Given the description of an element on the screen output the (x, y) to click on. 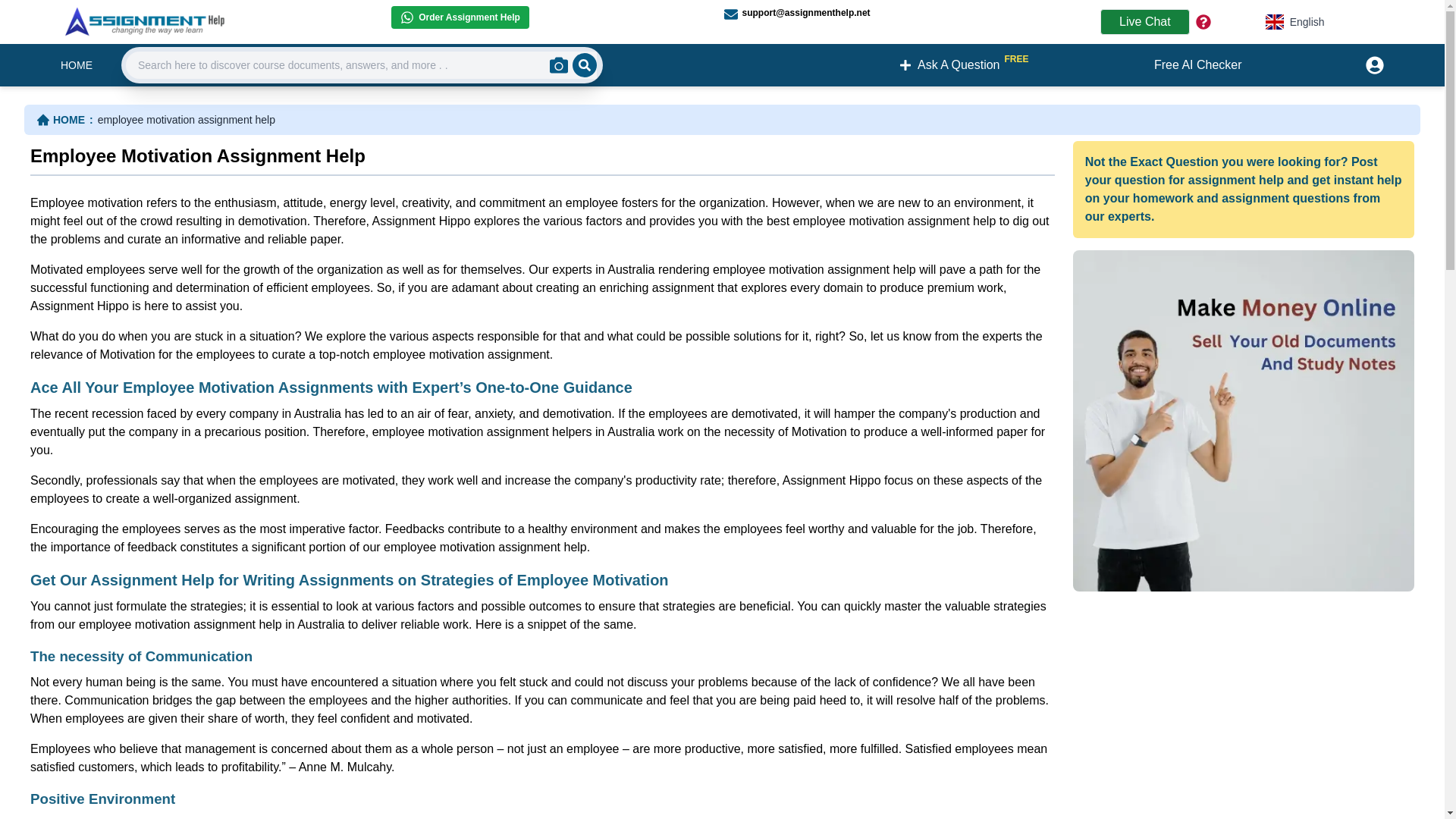
Order Assignment Help (460, 16)
Free AI Checker (1197, 65)
Userpanel (1371, 65)
Search (584, 64)
HOME (66, 119)
English (77, 64)
Menu (1294, 22)
